Given the description of an element on the screen output the (x, y) to click on. 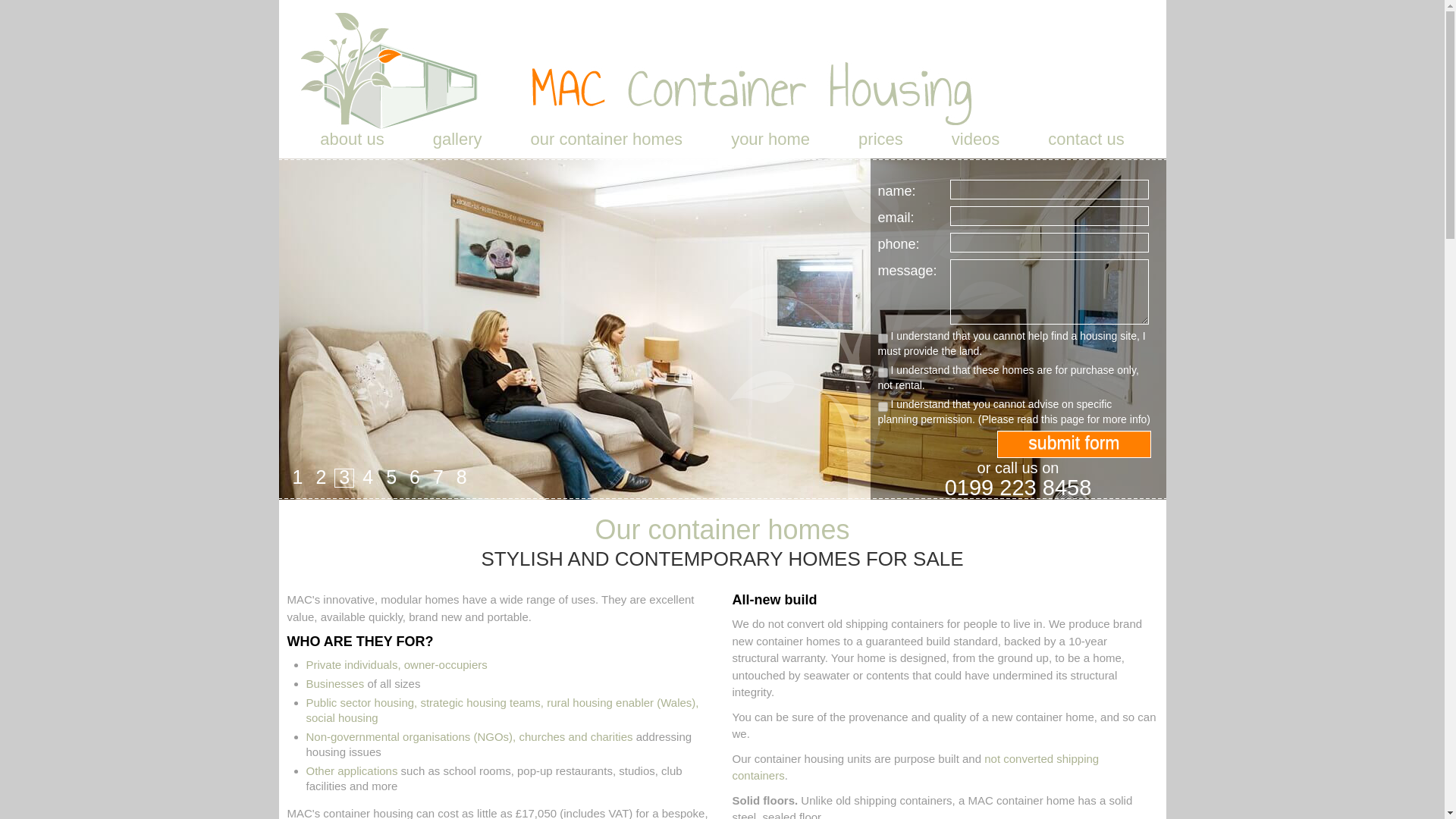
gallery (457, 144)
gallery (457, 144)
on (882, 406)
about us (351, 144)
about us (351, 144)
on (882, 338)
our container homes (606, 144)
our container homes (606, 144)
on (882, 372)
Container Housing (635, 69)
